Given the description of an element on the screen output the (x, y) to click on. 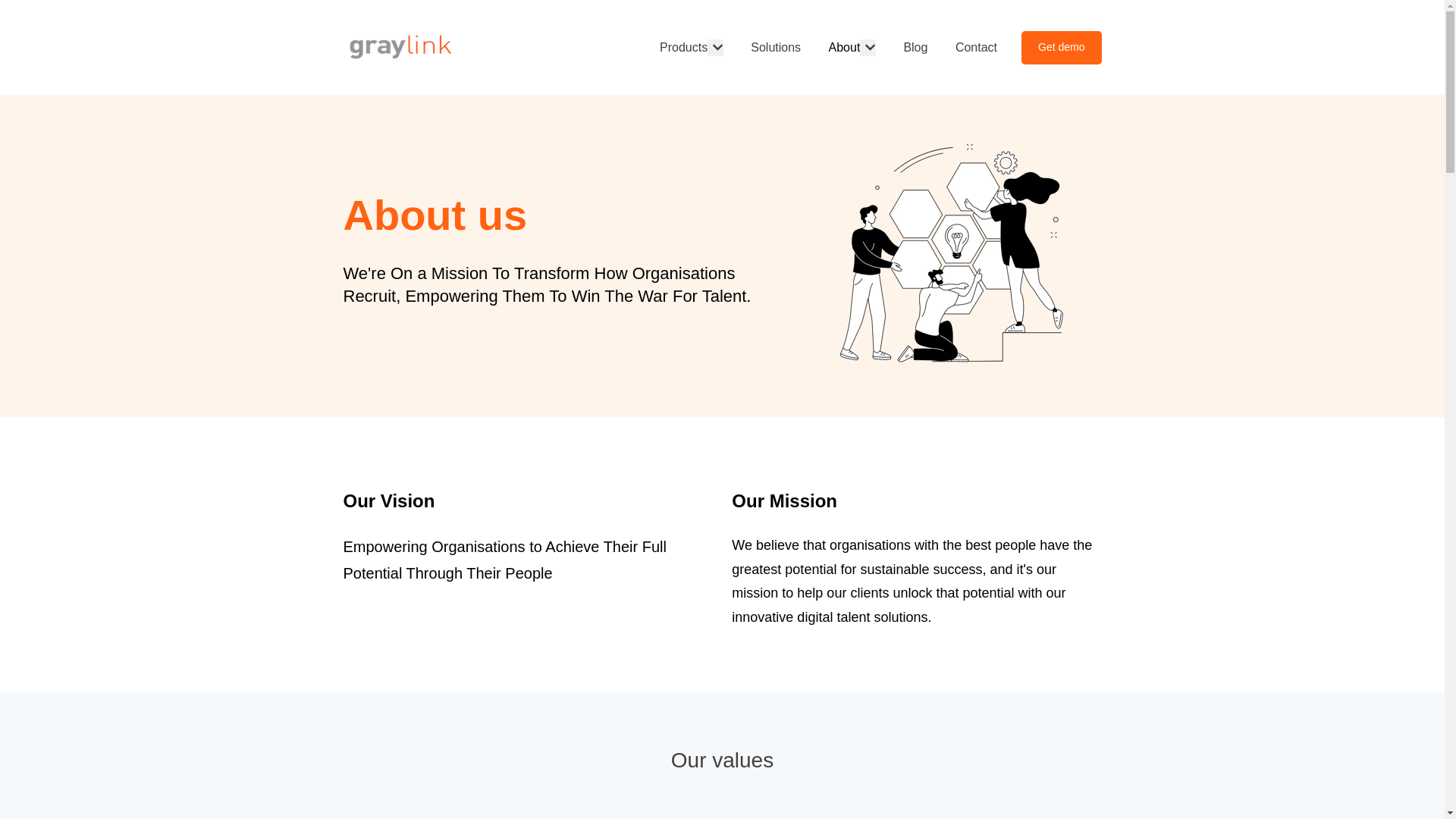
Blog (914, 47)
About (844, 47)
Solutions (775, 47)
Contact (976, 47)
Products (683, 47)
Get demo (1061, 47)
